Given the description of an element on the screen output the (x, y) to click on. 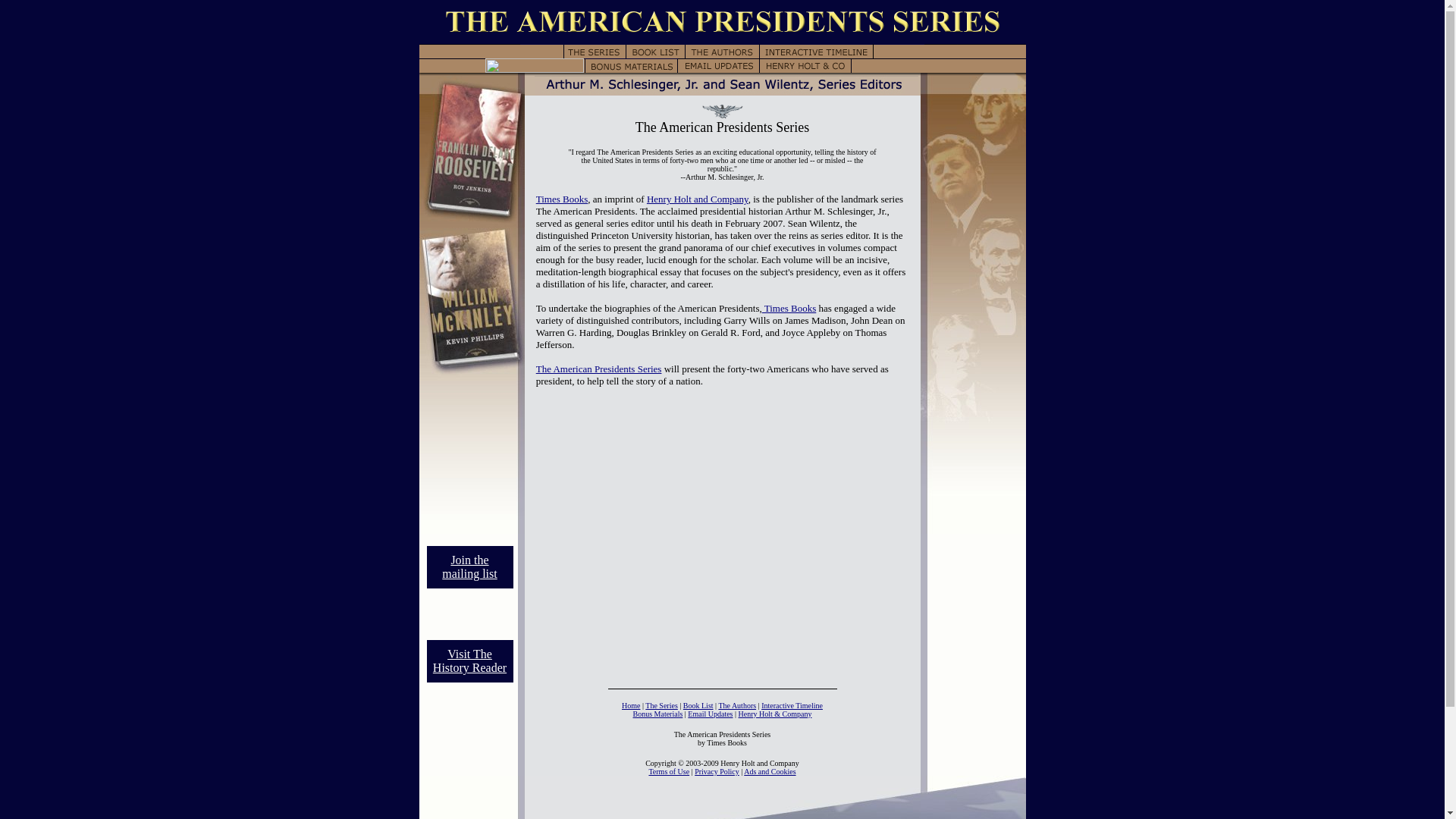
The American Presidents Series - Bonus Material (630, 65)
Privacy Policy (716, 771)
The American Presidents Series (598, 368)
The American Presidents Series - Times Books (788, 307)
The American Presidents Series - Email Updates (718, 65)
Ads and Cookies (769, 771)
Bonus Materials (657, 714)
The American Presidents Series (471, 74)
Terms of Use (667, 771)
